Given the description of an element on the screen output the (x, y) to click on. 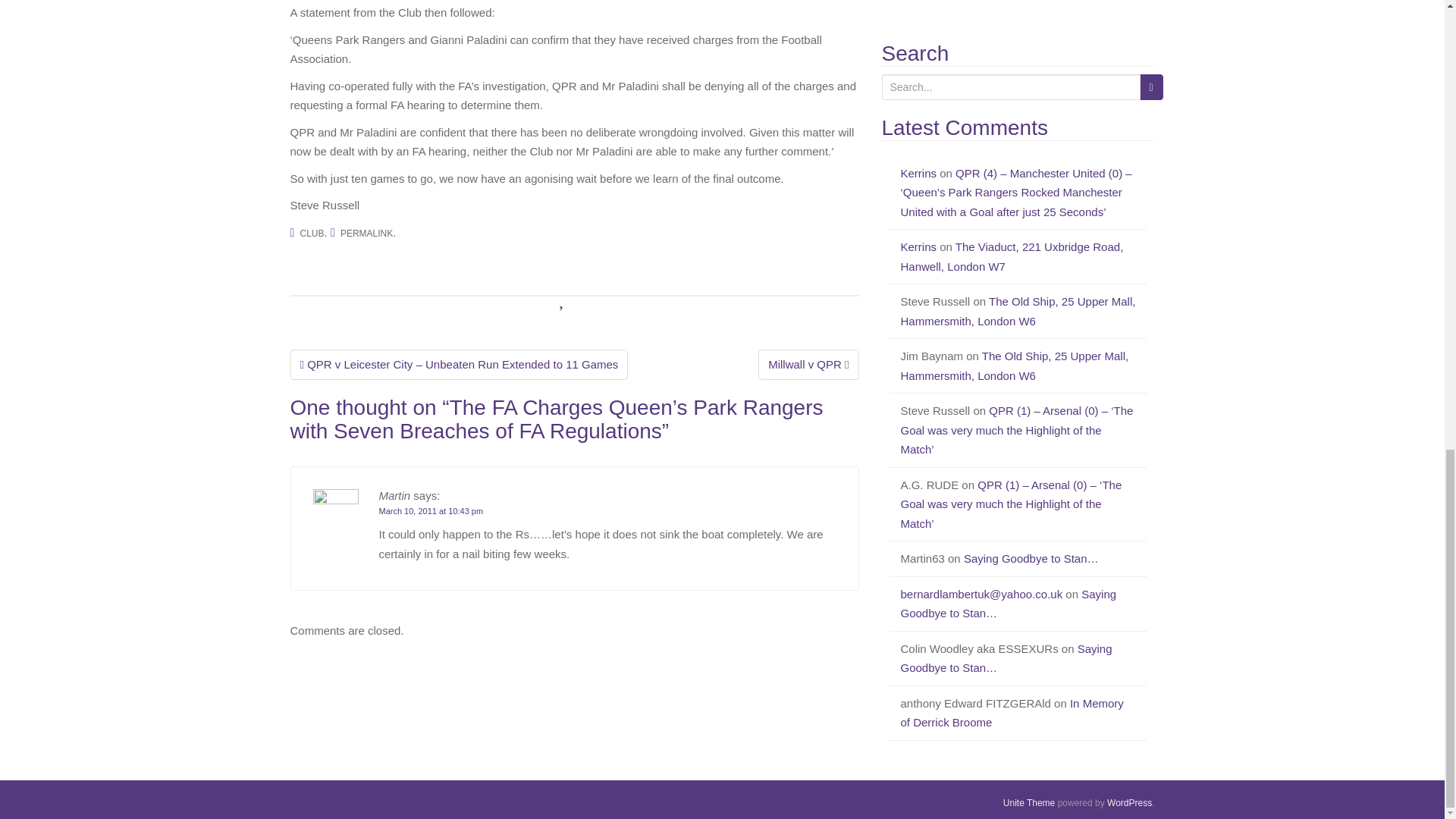
March 10, 2011 at 10:43 pm (430, 510)
Kerrins (919, 173)
CLUB (311, 233)
In Memory of Derrick Broome (1012, 712)
The Old Ship, 25 Upper Mall, Hammersmith, London W6 (1018, 310)
Millwall v QPR (808, 364)
Kerrins (919, 246)
PERMALINK (366, 233)
The Viaduct, 221 Uxbridge Road, Hanwell, London W7 (1012, 256)
Unite Theme (1028, 802)
The Old Ship, 25 Upper Mall, Hammersmith, London W6 (1015, 365)
